Given the description of an element on the screen output the (x, y) to click on. 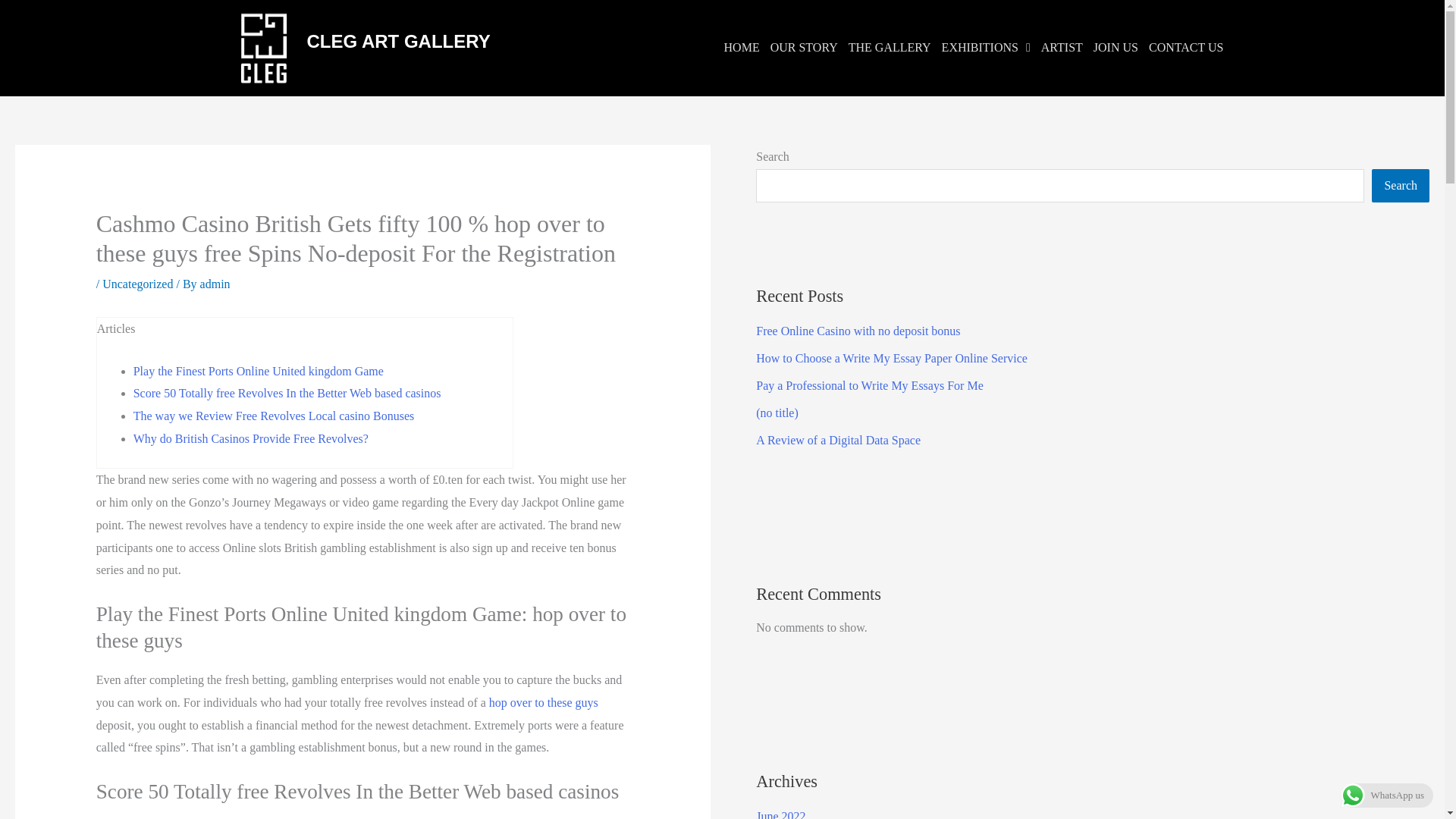
EXHIBITIONS (985, 47)
HOME (742, 47)
hop over to these guys (543, 702)
June 2022 (780, 814)
ARTIST (1061, 47)
THE GALLERY (889, 47)
Play the Finest Ports Online United kingdom Game (258, 370)
Free Online Casino with no deposit bonus (857, 330)
The way we Review Free Revolves Local casino Bonuses (273, 415)
Why do British Casinos Provide Free Revolves? (250, 438)
admin (215, 283)
A Review of a Digital Data Space (837, 440)
OUR STORY (804, 47)
Uncategorized (137, 283)
